Given the description of an element on the screen output the (x, y) to click on. 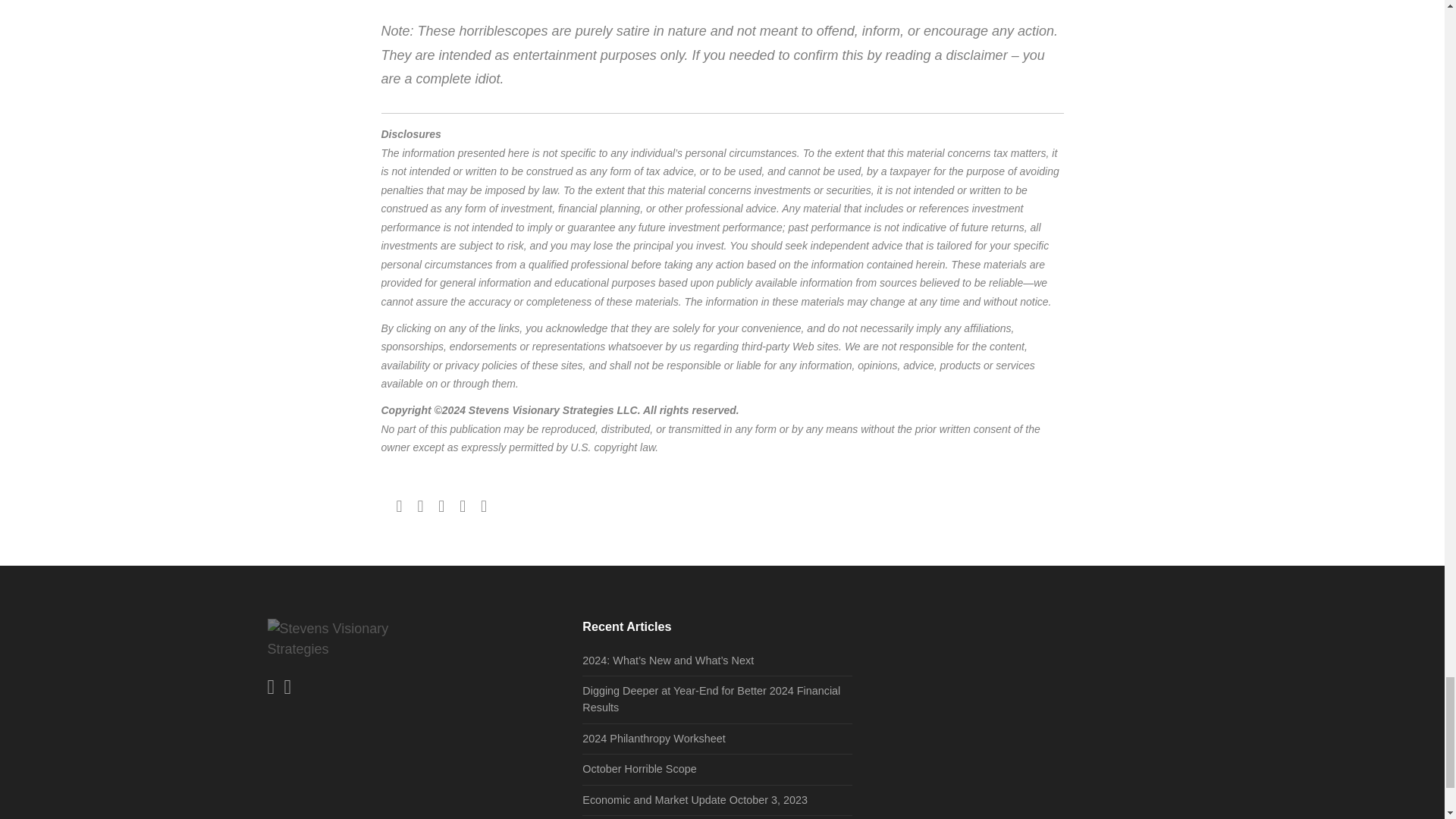
2024 Philanthropy Worksheet (653, 738)
Digging Deeper at Year-End for Better 2024 Financial Results (711, 698)
Economic and Market Update October 3, 2023 (695, 799)
October Horrible Scope (638, 768)
